Given the description of an element on the screen output the (x, y) to click on. 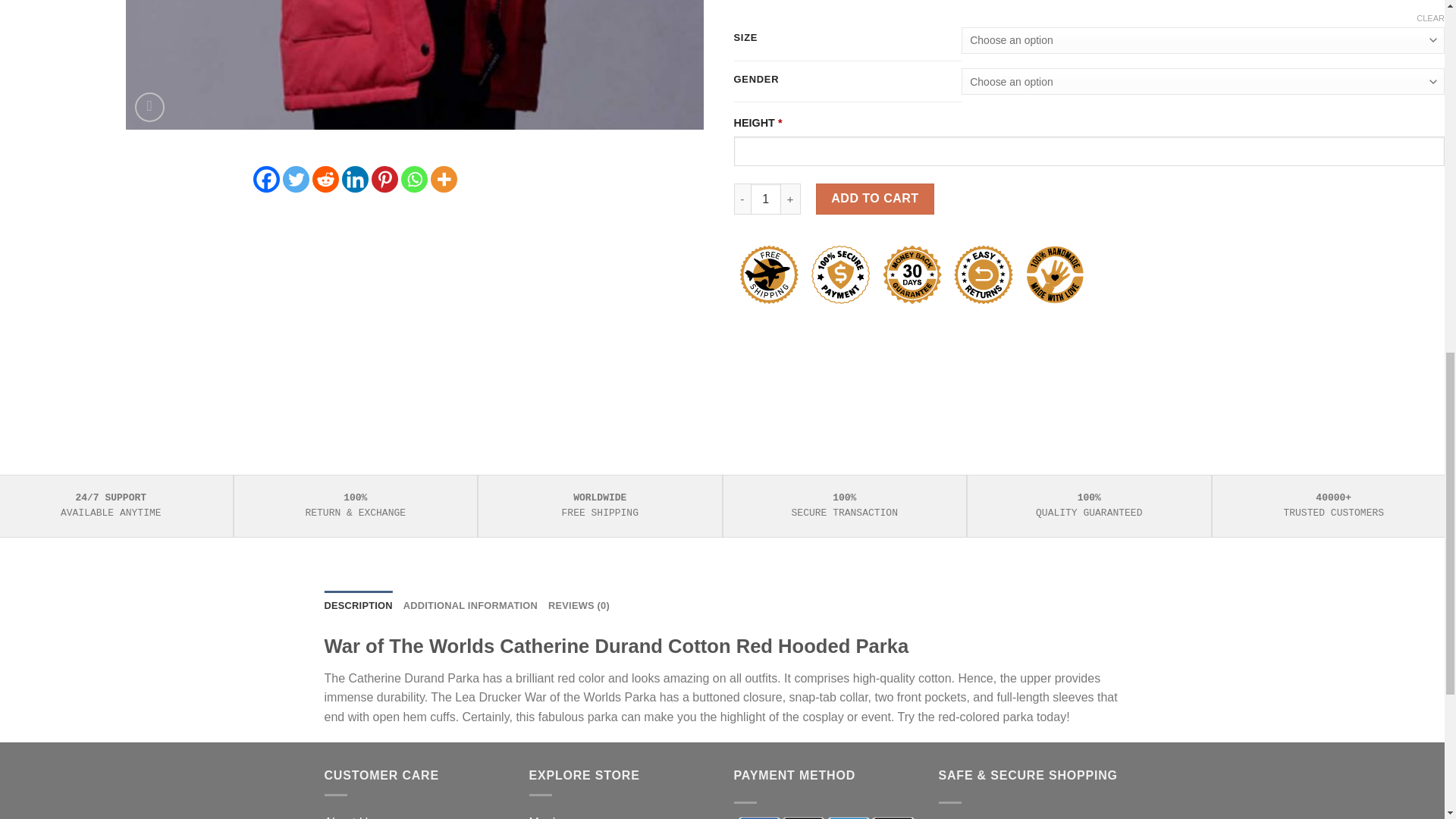
catherine-durand-parka (414, 64)
Zoom (149, 107)
Facebook (266, 179)
1 (765, 198)
Twitter (295, 179)
lea-drucker-war-of-the-worlds-parka (992, 64)
